Given the description of an element on the screen output the (x, y) to click on. 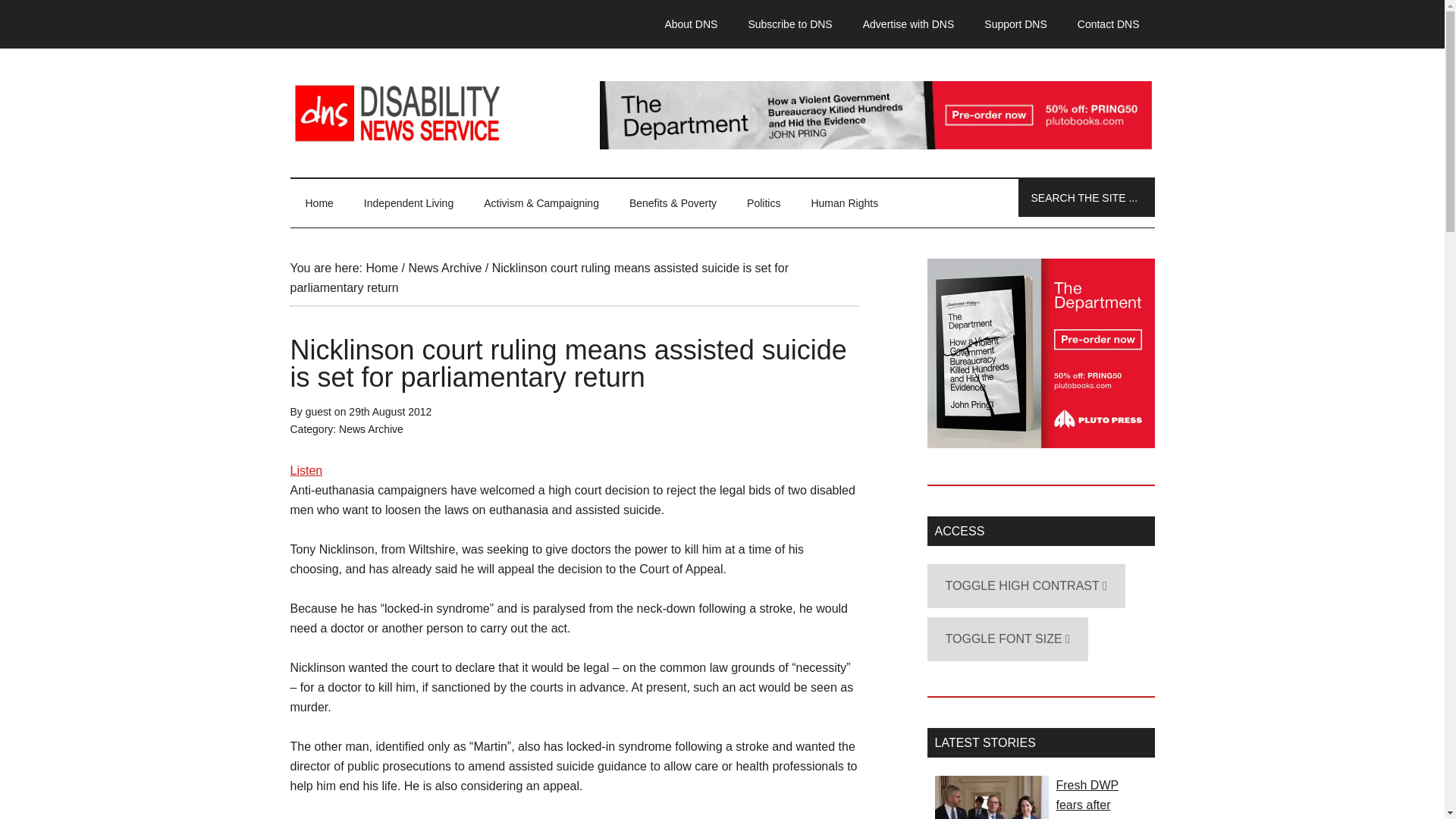
About DNS (690, 24)
Home (381, 267)
News Archive (444, 267)
Human Rights (843, 203)
Home (318, 203)
Subscribe to DNS (789, 24)
Advertise with DNS (908, 24)
Listen (305, 470)
guest (318, 411)
Contact DNS (1108, 24)
Disability News Service (721, 112)
Support DNS (1015, 24)
Independent Living (408, 203)
